Given the description of an element on the screen output the (x, y) to click on. 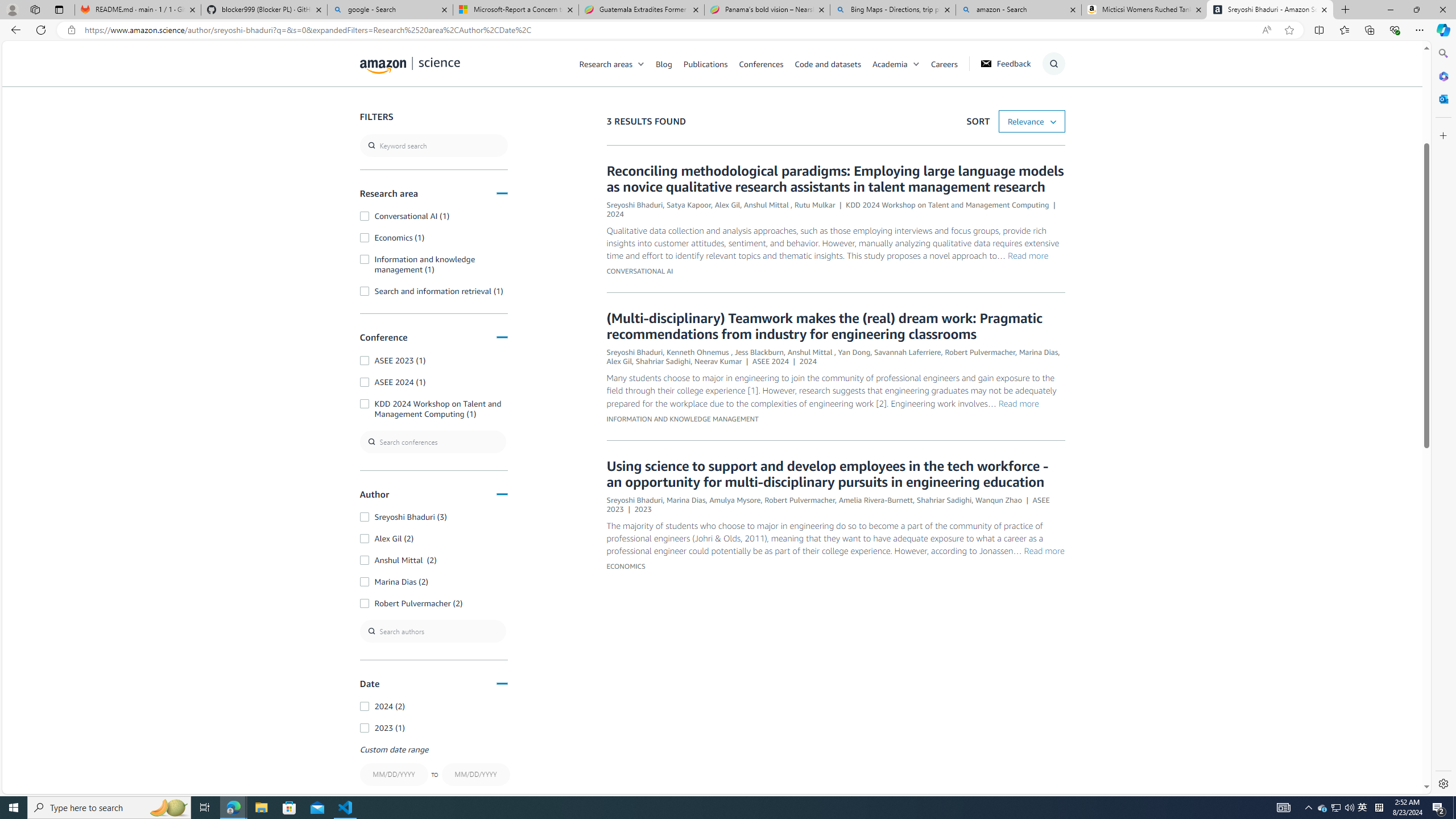
Search authors (432, 630)
Read more (1043, 549)
Class: icon-magnify (372, 108)
Careers (944, 63)
mm/dd/yyyy (475, 774)
Wanqun Zhao (998, 499)
amazon - Search (1018, 9)
